Given the description of an element on the screen output the (x, y) to click on. 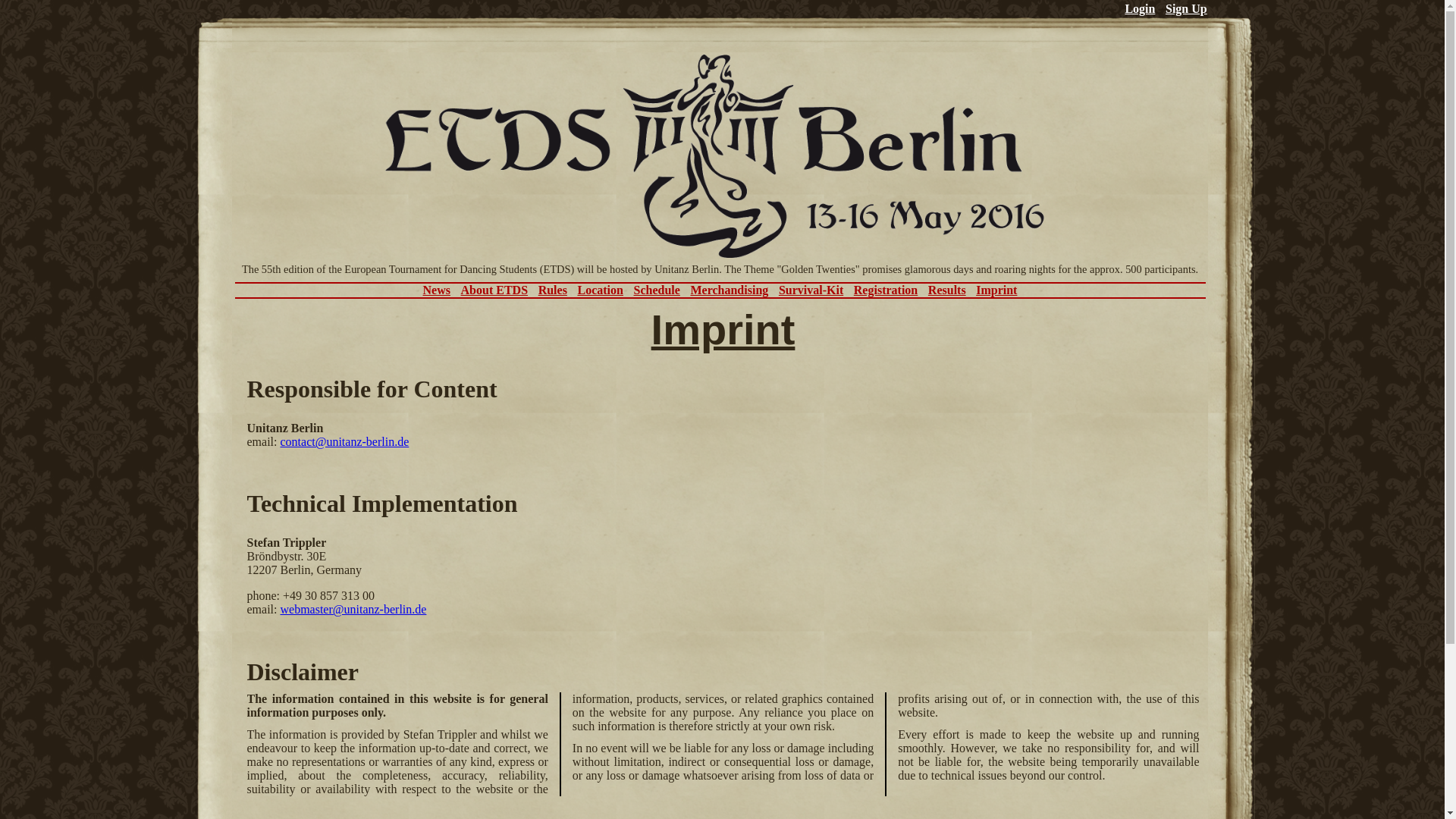
Schedule (656, 289)
Rules (552, 289)
About ETDS (494, 289)
Results (947, 289)
Sign Up (1186, 8)
Location (599, 289)
News (436, 289)
Imprint (995, 289)
Survival-Kit (810, 289)
Merchandising (729, 289)
Login (1139, 8)
Registration (885, 289)
